Given the description of an element on the screen output the (x, y) to click on. 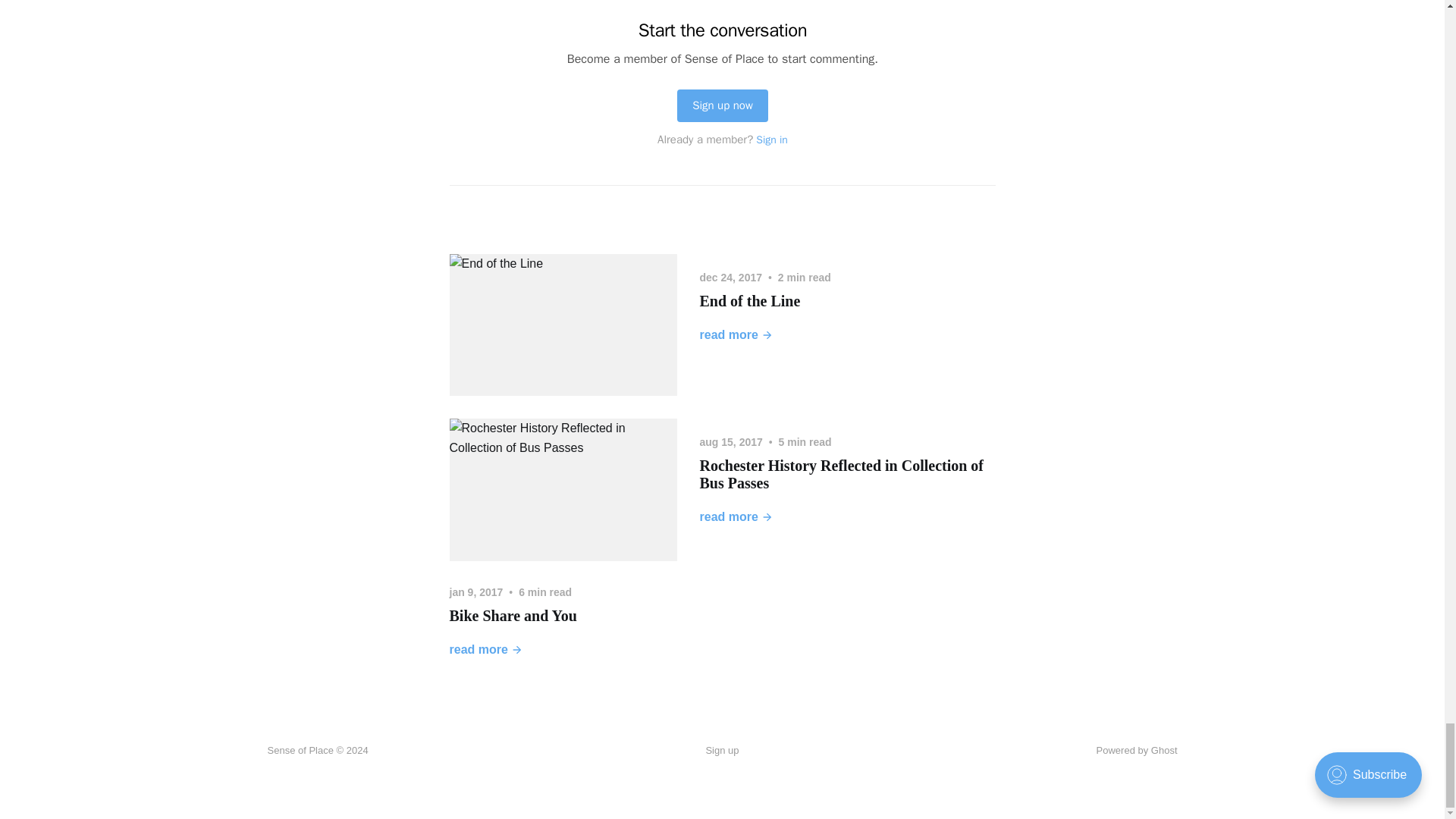
comments-frame (721, 101)
read more (735, 516)
read more (485, 649)
Bike Share and You (512, 615)
Sign up (721, 750)
Rochester History Reflected in Collection of Bus Passes (841, 474)
read more (735, 334)
End of the Line (748, 300)
Powered by Ghost (1136, 749)
